Given the description of an element on the screen output the (x, y) to click on. 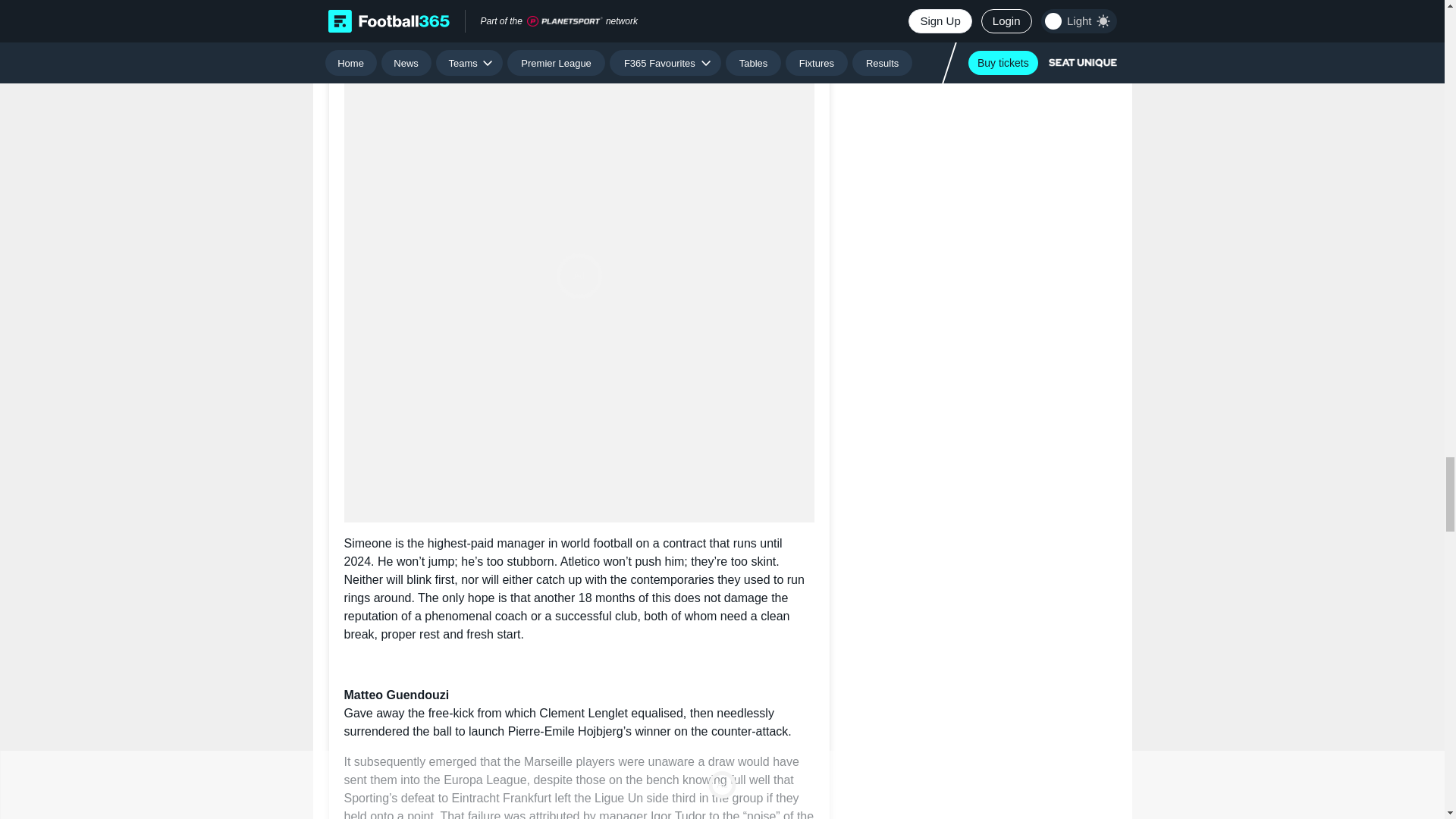
Content continues below (578, 14)
